Given the description of an element on the screen output the (x, y) to click on. 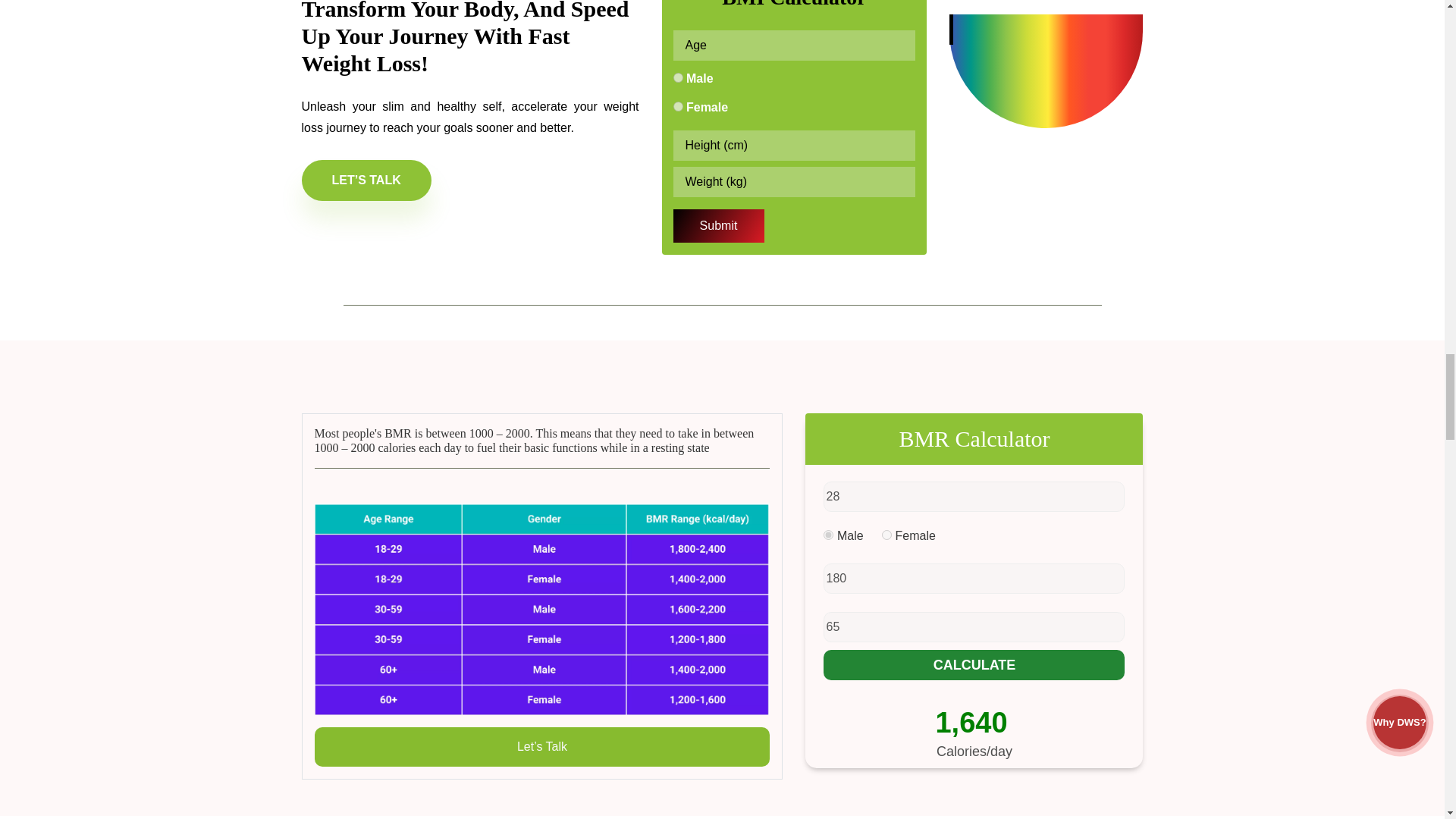
male (828, 534)
65 (974, 626)
30 (677, 77)
60 (677, 106)
180 (974, 578)
female (886, 534)
28 (974, 496)
Submit (718, 225)
